Given the description of an element on the screen output the (x, y) to click on. 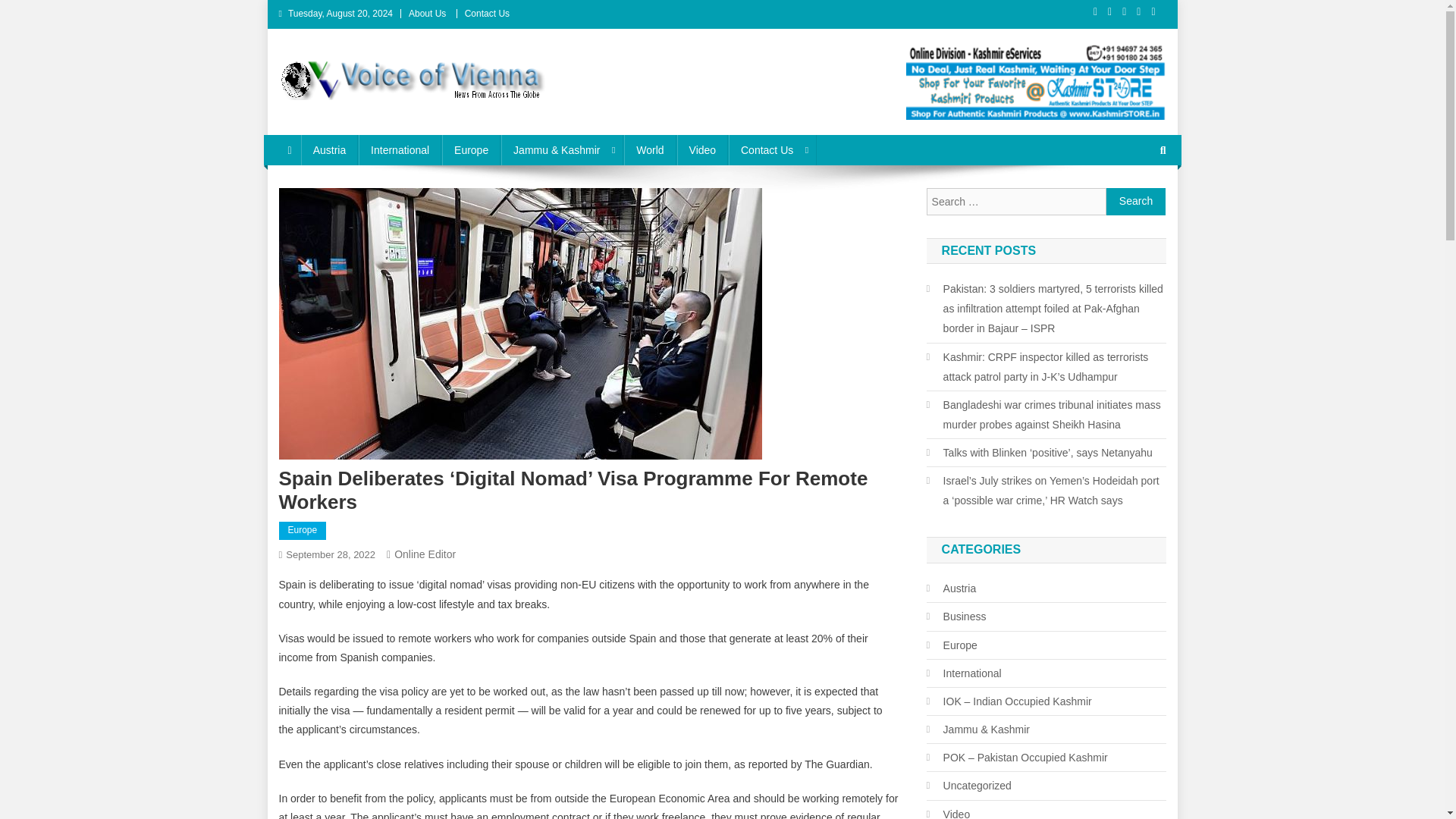
International (399, 150)
World (649, 150)
Search (1136, 201)
Europe (471, 150)
About Us (427, 13)
Video (703, 150)
Contact Us (486, 13)
Online Editor (424, 553)
Search (1136, 201)
Contact Us (772, 150)
